Given the description of an element on the screen output the (x, y) to click on. 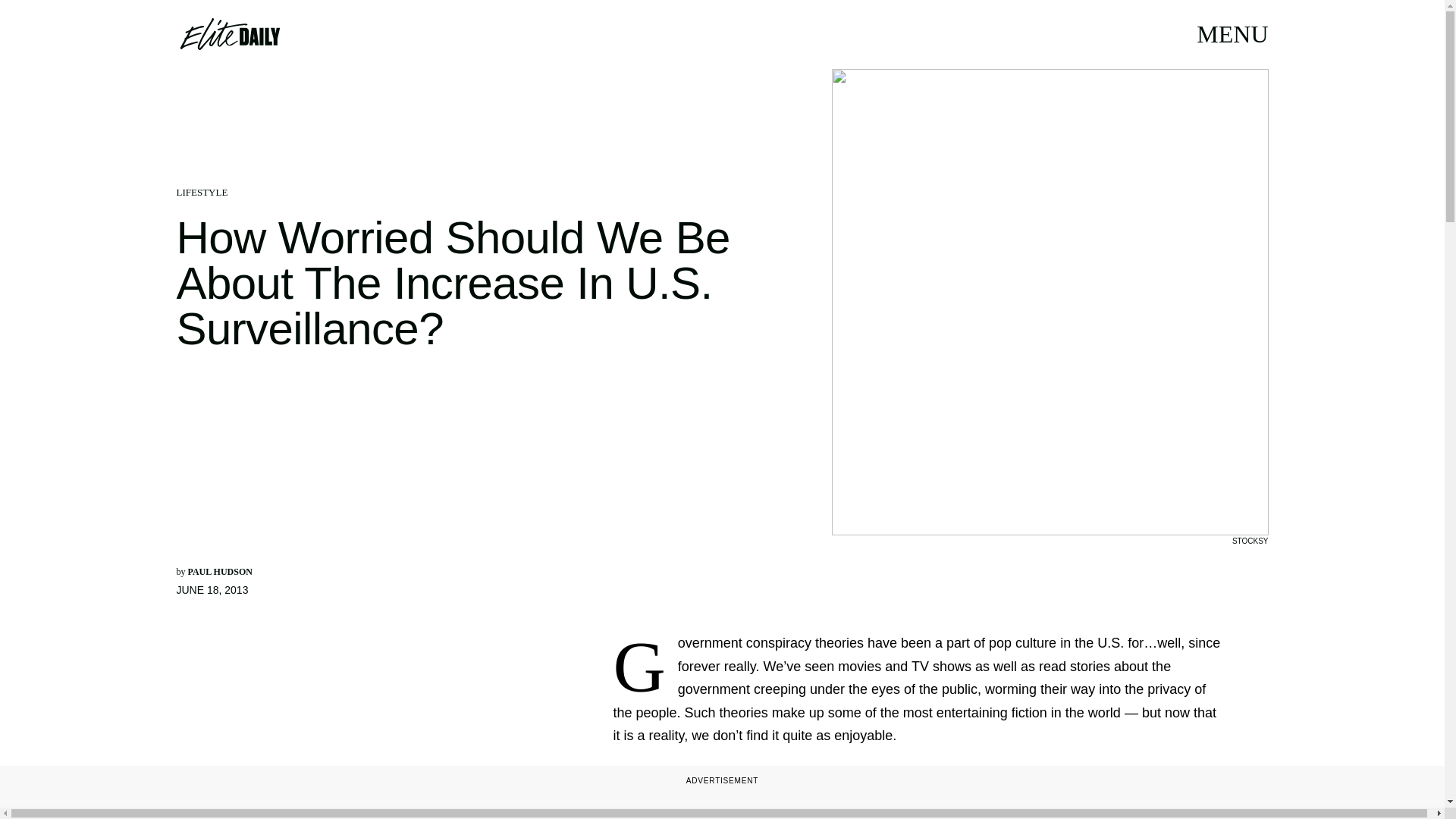
Elite Daily (229, 33)
